Given the description of an element on the screen output the (x, y) to click on. 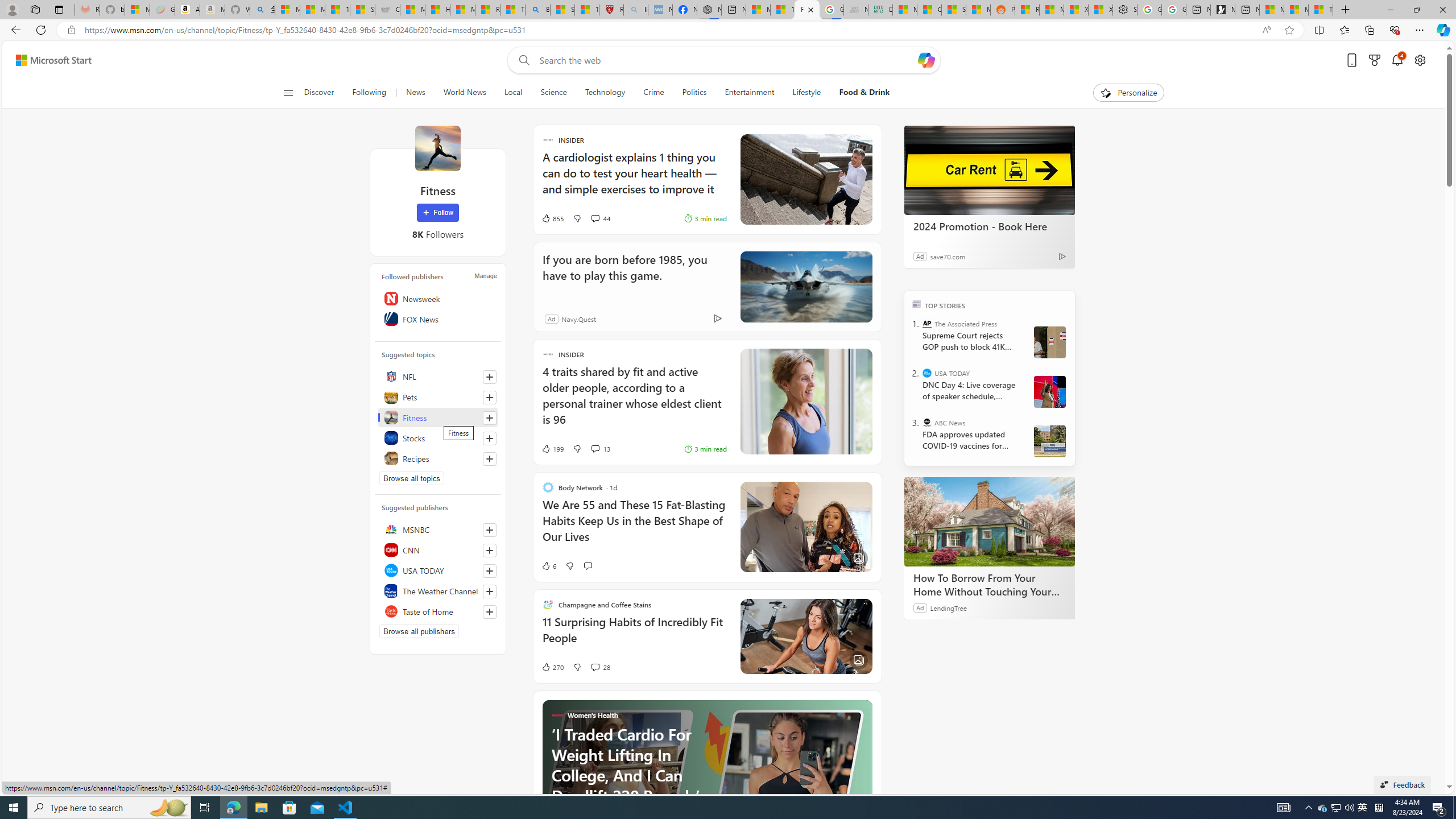
USA TODAY (927, 372)
ABC News (927, 422)
Manage (485, 275)
TOP (916, 302)
LendingTree (948, 607)
FOX News (437, 318)
Microsoft Start Gaming (1222, 9)
